Given the description of an element on the screen output the (x, y) to click on. 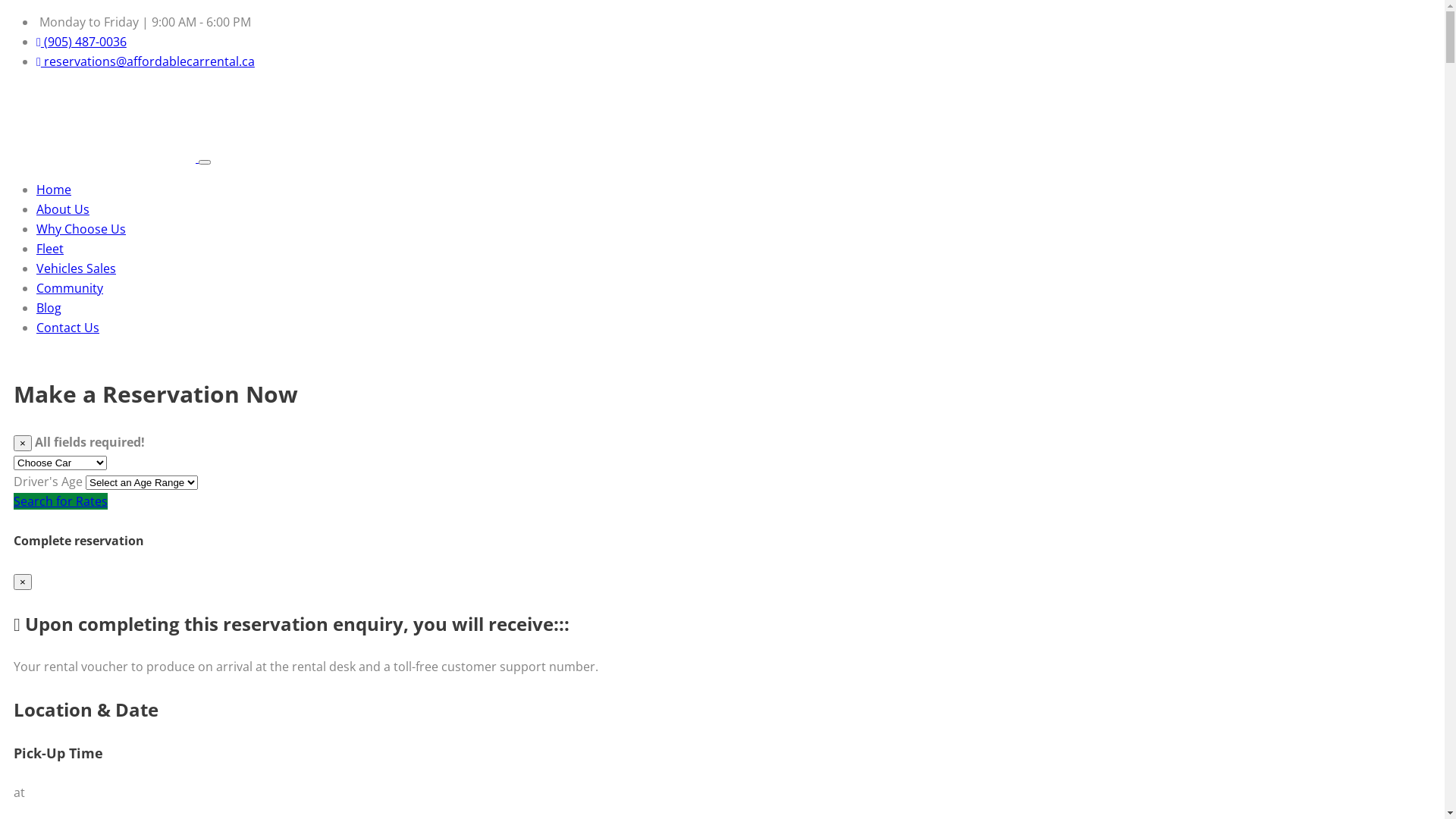
About Us Element type: text (62, 208)
Blog Element type: text (48, 307)
Fleet Element type: text (49, 248)
Community Element type: text (69, 287)
reservations@affordablecarrental.ca Element type: text (145, 61)
Why Choose Us Element type: text (80, 228)
Contact Us Element type: text (67, 327)
Search for Rates Element type: text (60, 500)
Home Element type: text (53, 189)
Vehicles Sales Element type: text (76, 268)
(905) 487-0036 Element type: text (81, 41)
